Given the description of an element on the screen output the (x, y) to click on. 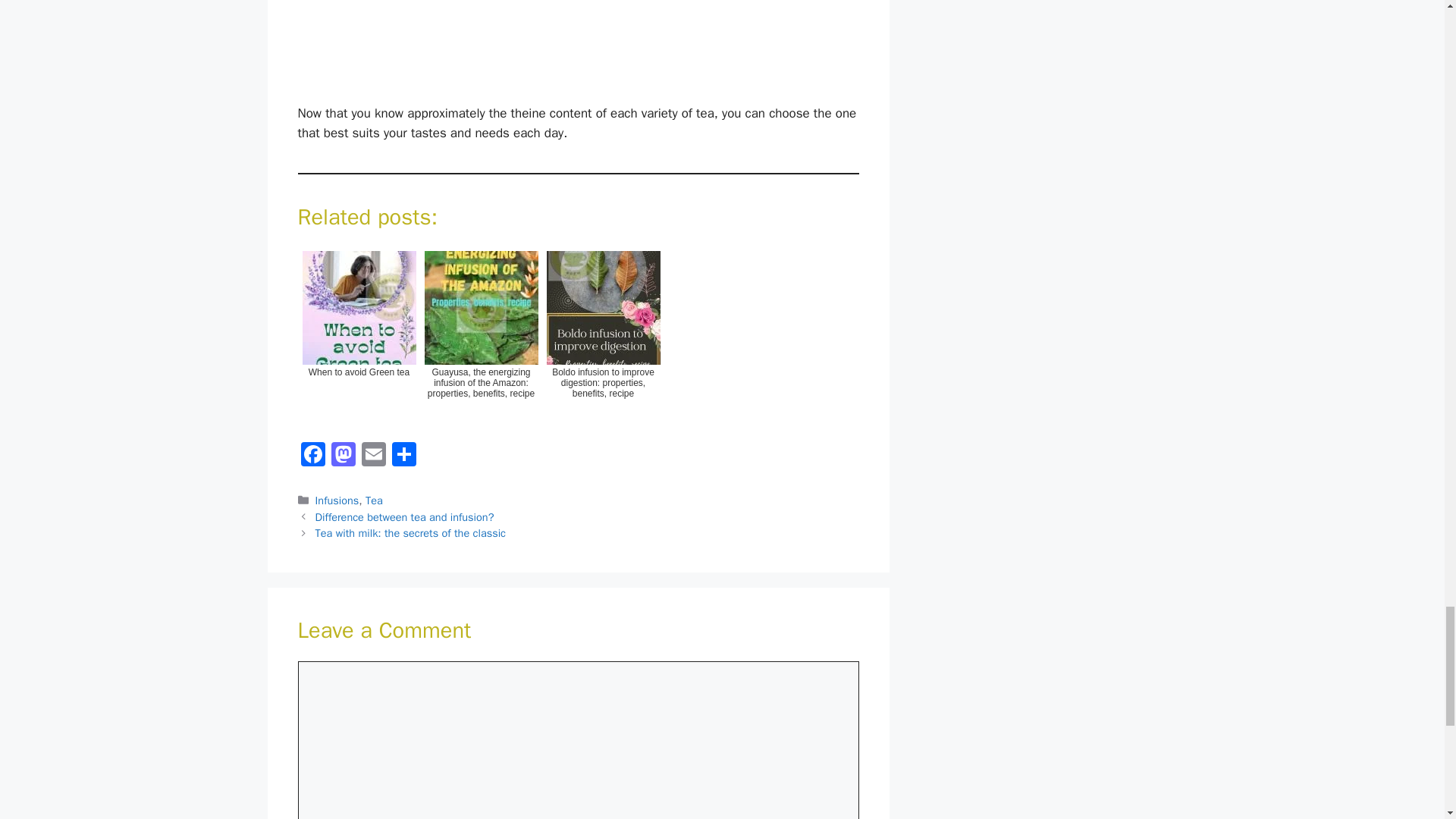
When to avoid Green tea (358, 335)
Difference between tea and infusion? (405, 517)
Facebook (312, 456)
Email (373, 456)
Tea (373, 499)
Infusions (337, 499)
Facebook (312, 456)
Tea with milk: the secrets of the classic (410, 532)
Mastodon (342, 456)
Mastodon (342, 456)
Email (373, 456)
